Given the description of an element on the screen output the (x, y) to click on. 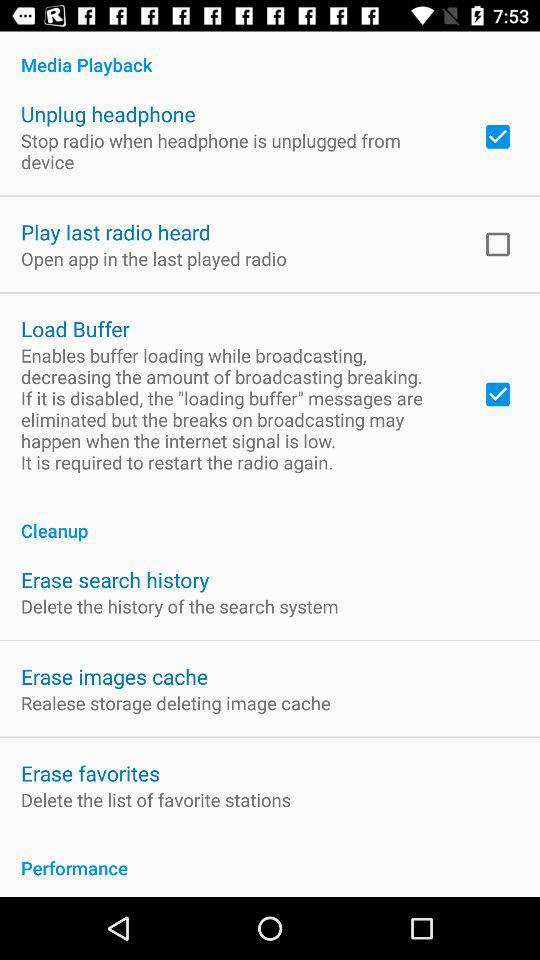
select the item below delete the list (270, 857)
